Given the description of an element on the screen output the (x, y) to click on. 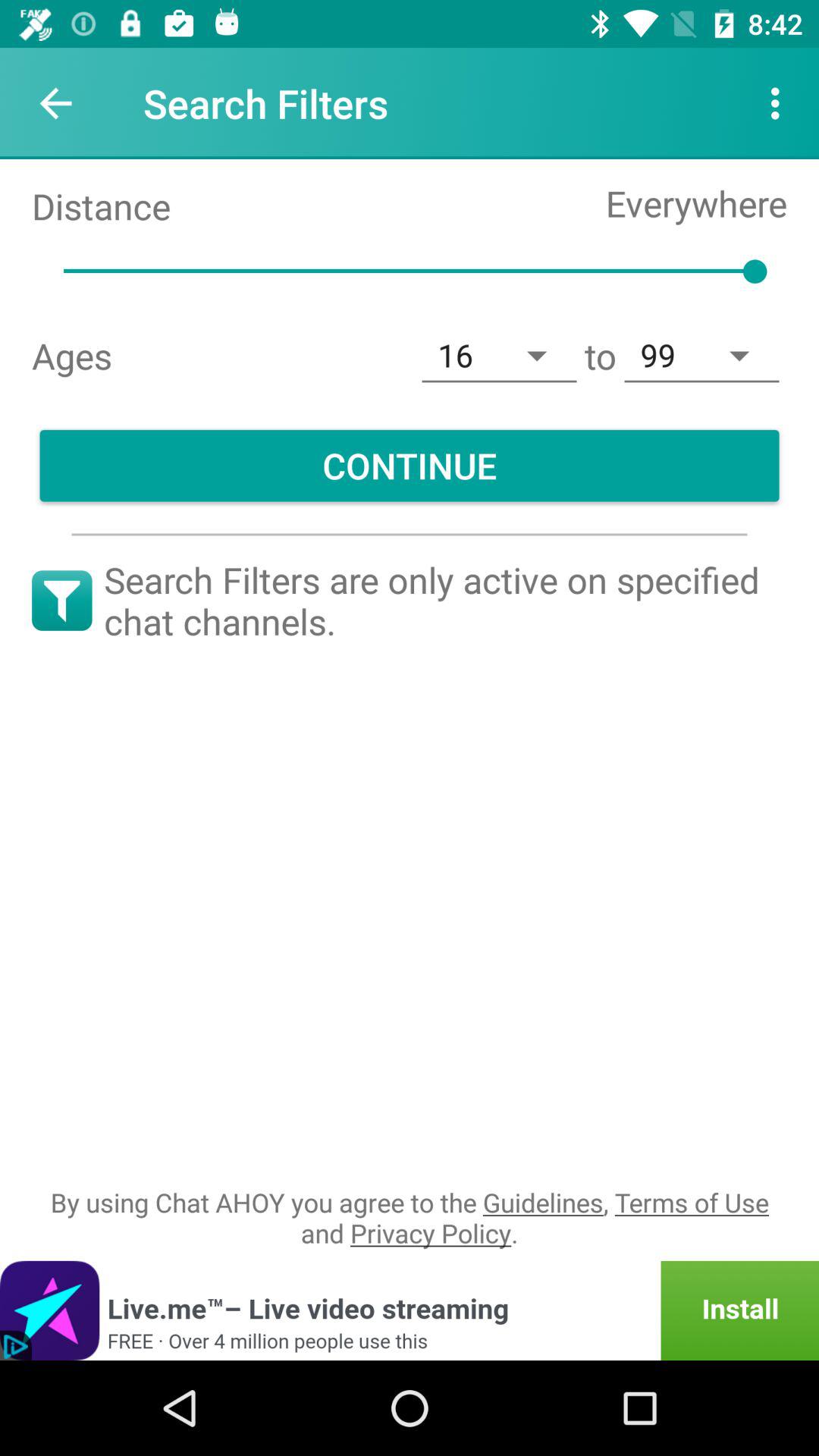
click continue (409, 465)
